Given the description of an element on the screen output the (x, y) to click on. 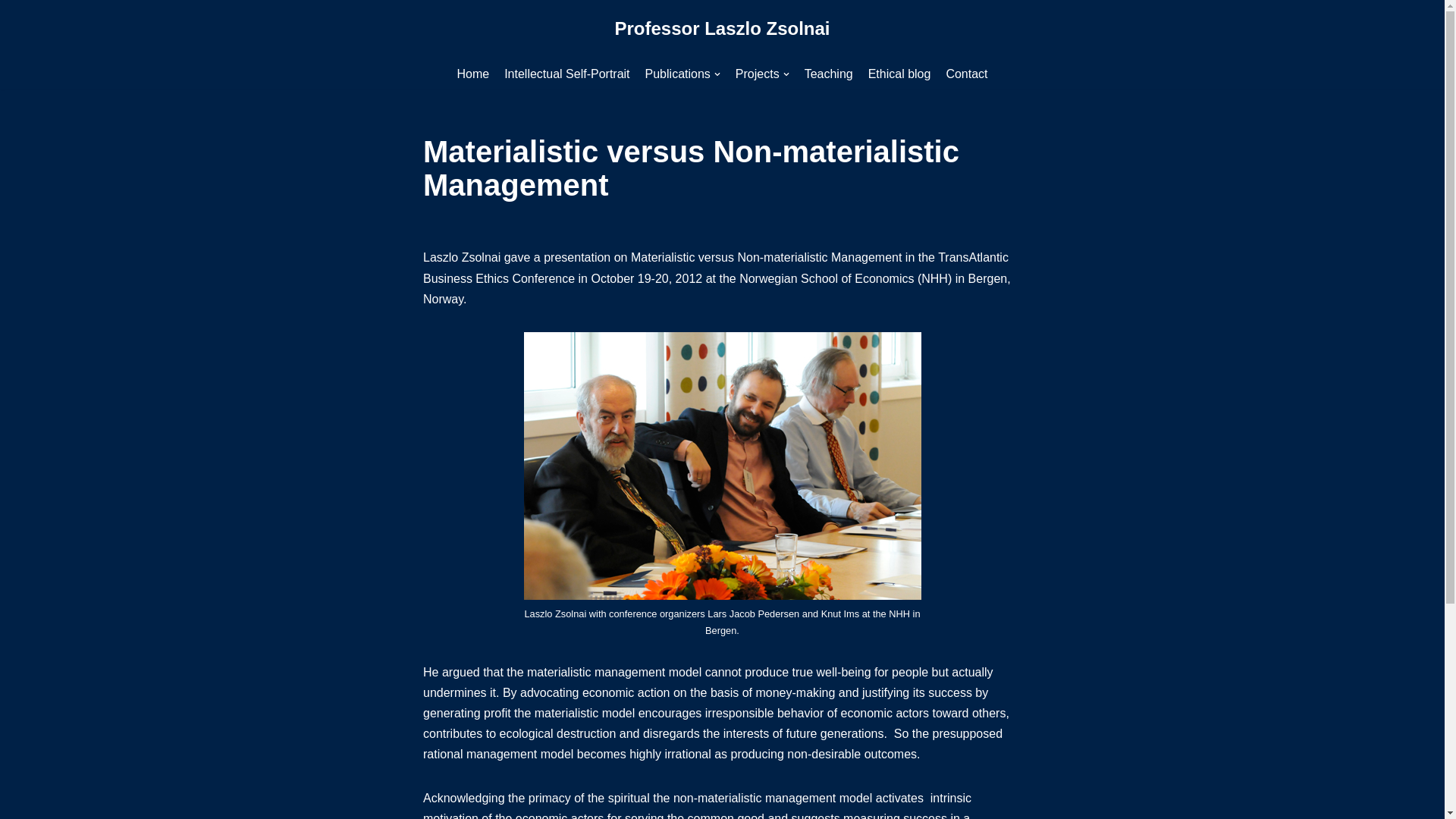
Teaching (829, 74)
Professor Laszlo Zsolnai (721, 29)
Professor Laszlo Zsolnai (721, 29)
Skip to content (11, 31)
Intellectual Self-Portrait (565, 74)
Contact (965, 74)
Ethical blog (899, 74)
Publications (682, 74)
Home (473, 74)
Projects (762, 74)
